Given the description of an element on the screen output the (x, y) to click on. 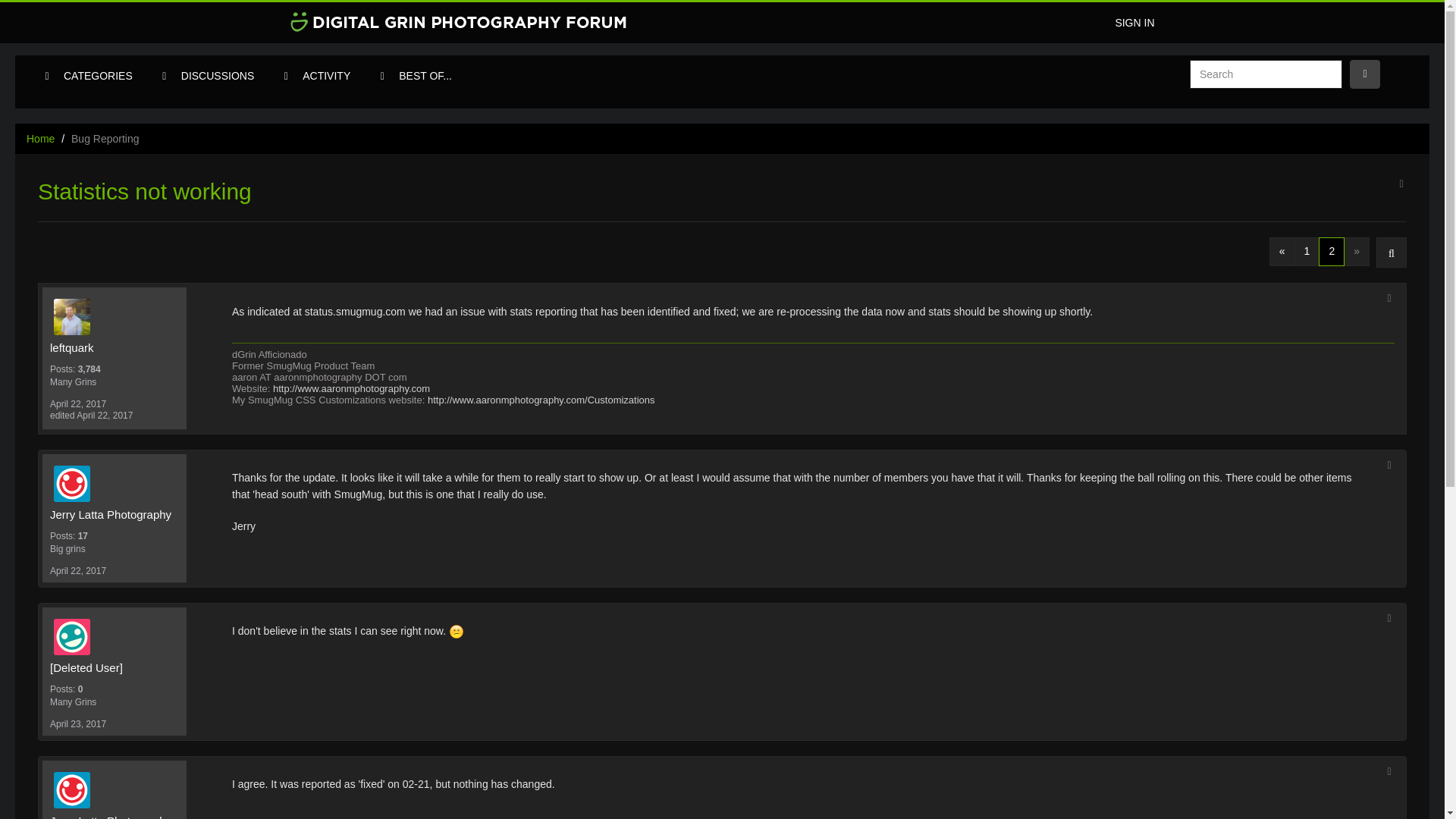
April 22, 2017 (77, 570)
Bug Reporting (105, 138)
Jerry Latta Photography (118, 484)
DISCUSSIONS (217, 75)
leftquark (118, 316)
2 (1331, 251)
SIGN IN (1134, 22)
leftquark (114, 348)
Previous Page (1282, 251)
Jerry Latta Photography (114, 815)
Big grins (114, 549)
April 22, 2017 6:52AM (77, 403)
Edited April 22, 2017 6:52AM by leftquark. (90, 415)
CATEGORIES (98, 75)
April 22, 2017 (77, 403)
